Given the description of an element on the screen output the (x, y) to click on. 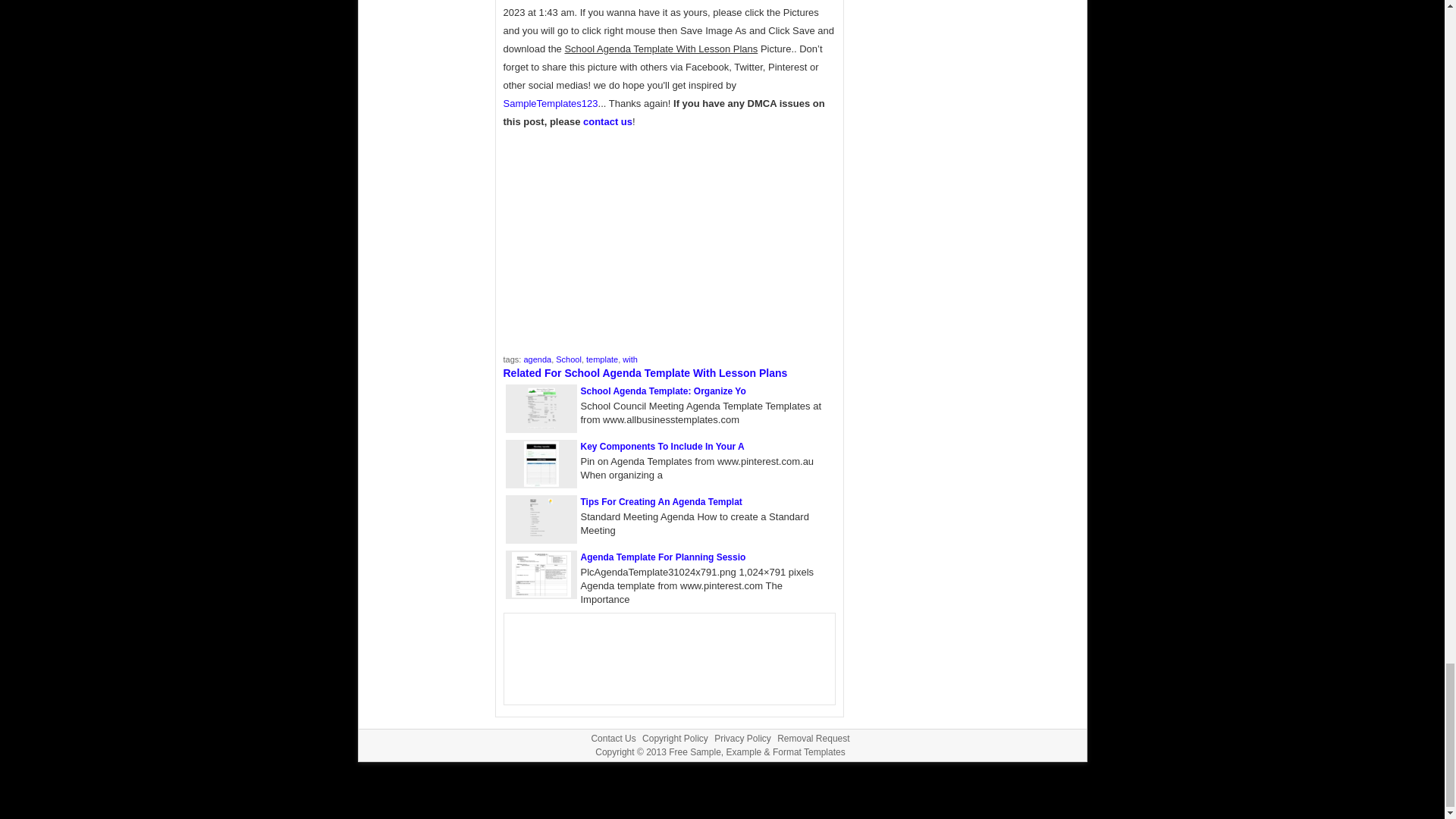
Key Components To Include In Your Agenda Template (539, 482)
with (630, 358)
School (568, 358)
agenda (536, 358)
contact us (607, 121)
Agenda Template For Planning Sessio (662, 557)
Tips For Creating An Agenda Templat (661, 501)
Key Components To Include In Your Agenda Template (662, 446)
template (601, 358)
SampleTemplates123 (550, 102)
School Agenda Template: Organize Yo (662, 390)
Key Components To Include In Your A (662, 446)
